Given the description of an element on the screen output the (x, y) to click on. 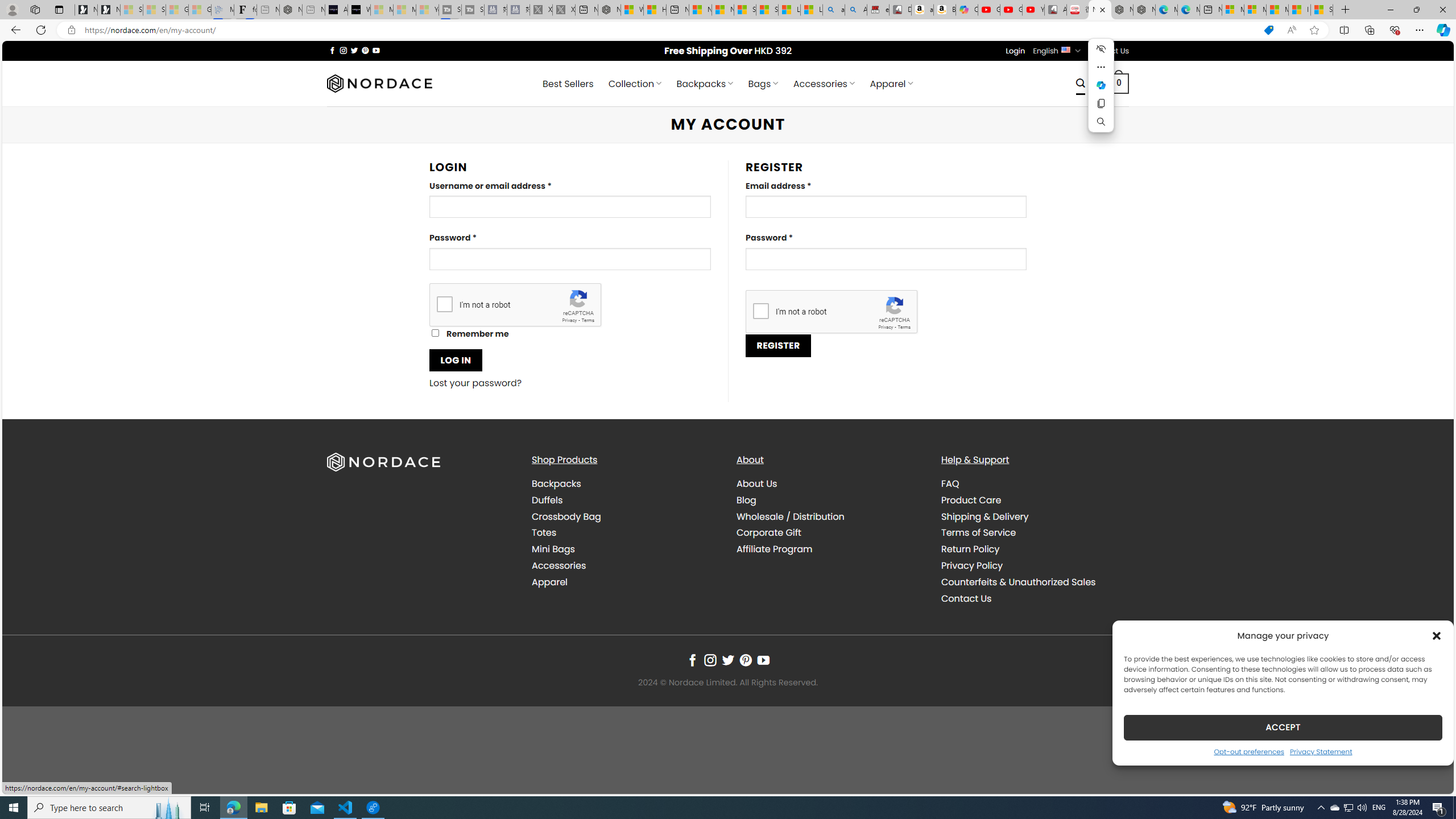
Shipping & Delivery (1034, 516)
Go to top (1430, 777)
Totes (625, 532)
  Best Sellers (568, 83)
Follow on Twitter (727, 659)
Gloom - YouTube (1010, 9)
Return Policy (1034, 549)
 0  (1118, 83)
Minimize (1390, 9)
LOG IN (455, 359)
Duffels (625, 499)
Opt-out preferences (1249, 750)
